Given the description of an element on the screen output the (x, y) to click on. 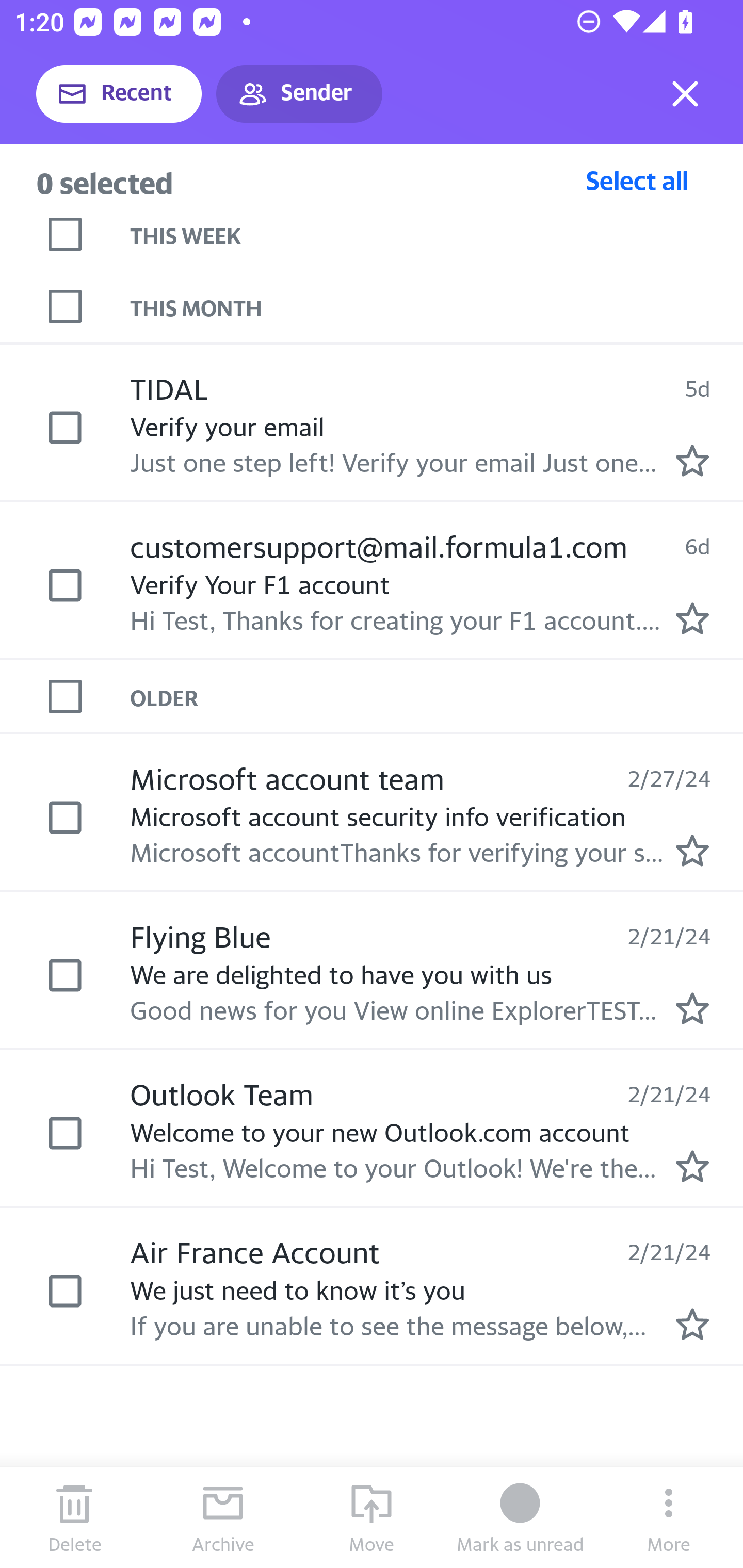
Sender (299, 93)
Exit selection mode (684, 93)
Select all (637, 180)
THIS MONTH (436, 306)
Mark as starred. (692, 460)
Mark as starred. (692, 618)
OLDER (436, 696)
Mark as starred. (692, 850)
Mark as starred. (692, 1008)
Mark as starred. (692, 1165)
Mark as starred. (692, 1324)
Delete (74, 1517)
Archive (222, 1517)
Move (371, 1517)
Mark as unread (519, 1517)
More (668, 1517)
